Given the description of an element on the screen output the (x, y) to click on. 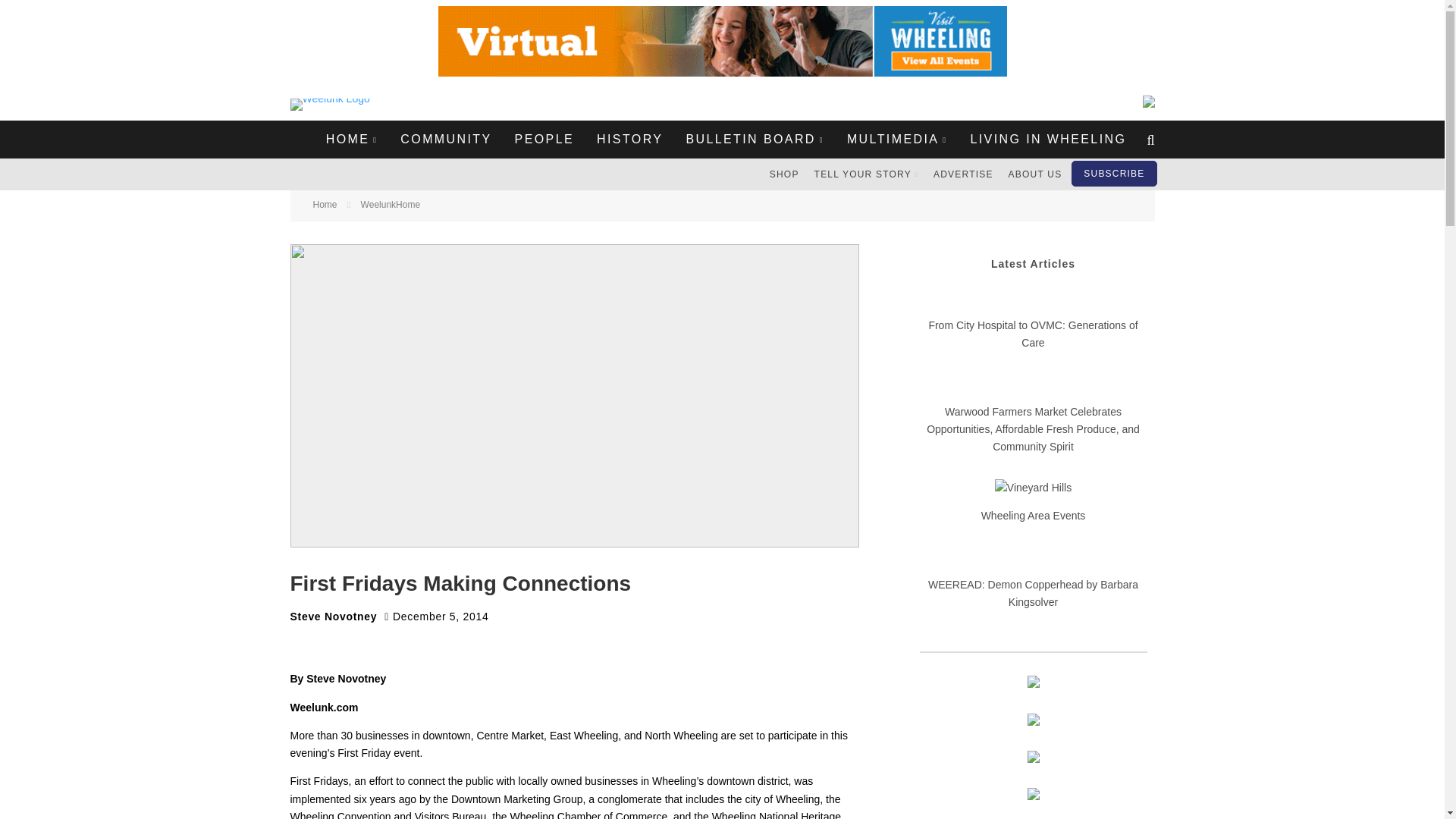
MULTIMEDIA (897, 139)
Posts by Steve Novotney (333, 616)
PEOPLE (544, 139)
HISTORY (629, 139)
COMMUNITY (445, 139)
HOME (352, 139)
BULLETIN BOARD (754, 139)
